Given the description of an element on the screen output the (x, y) to click on. 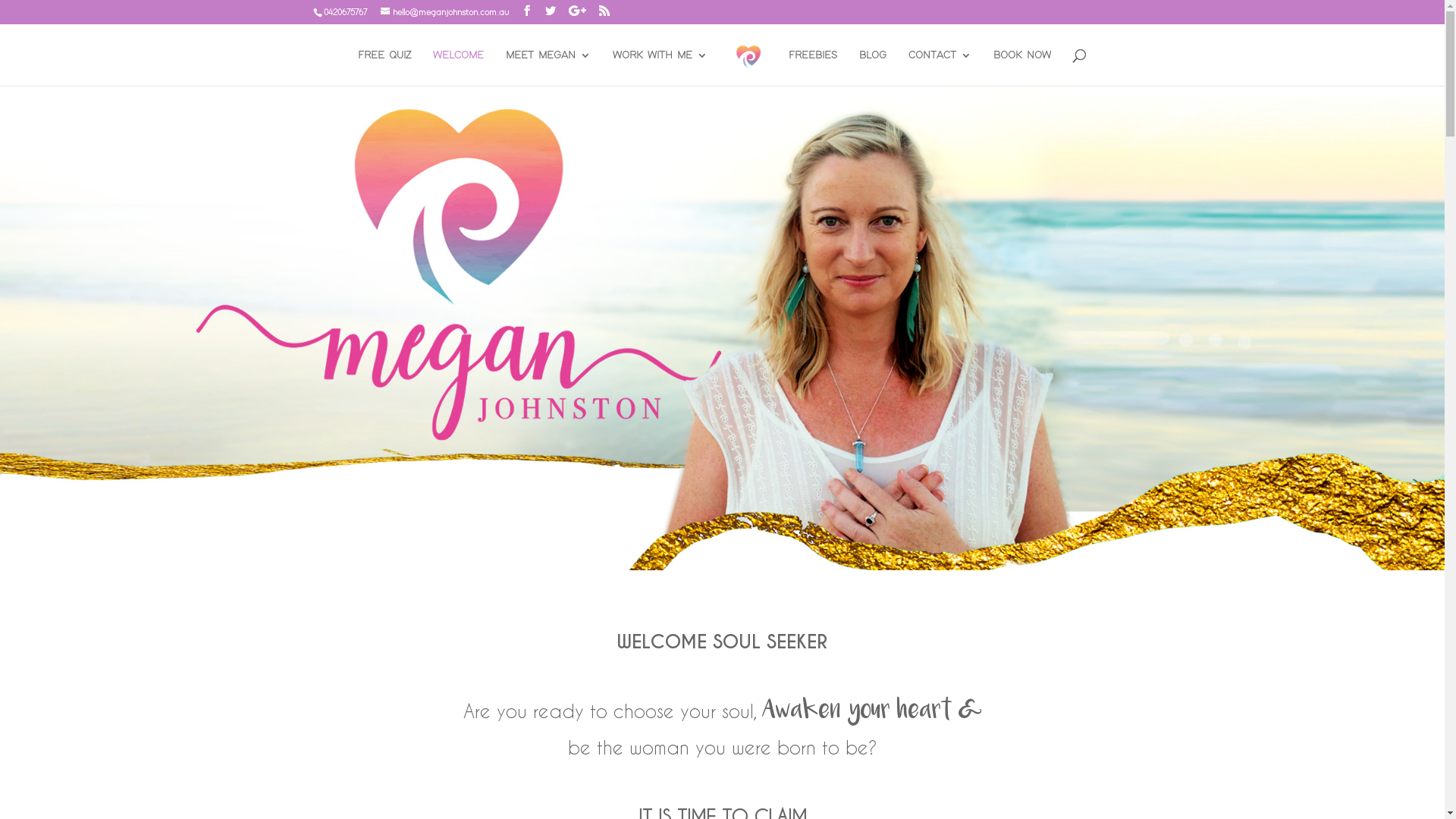
BLOG Element type: text (872, 67)
FREEBIES Element type: text (812, 67)
hello@meganjohnston.com.au Element type: text (444, 12)
FREE QUIZ Element type: text (384, 67)
WELCOME Element type: text (458, 67)
WORK WITH ME Element type: text (659, 67)
MEET MEGAN Element type: text (547, 67)
BOOK NOW Element type: text (1022, 67)
CONTACT Element type: text (939, 67)
